Given the description of an element on the screen output the (x, y) to click on. 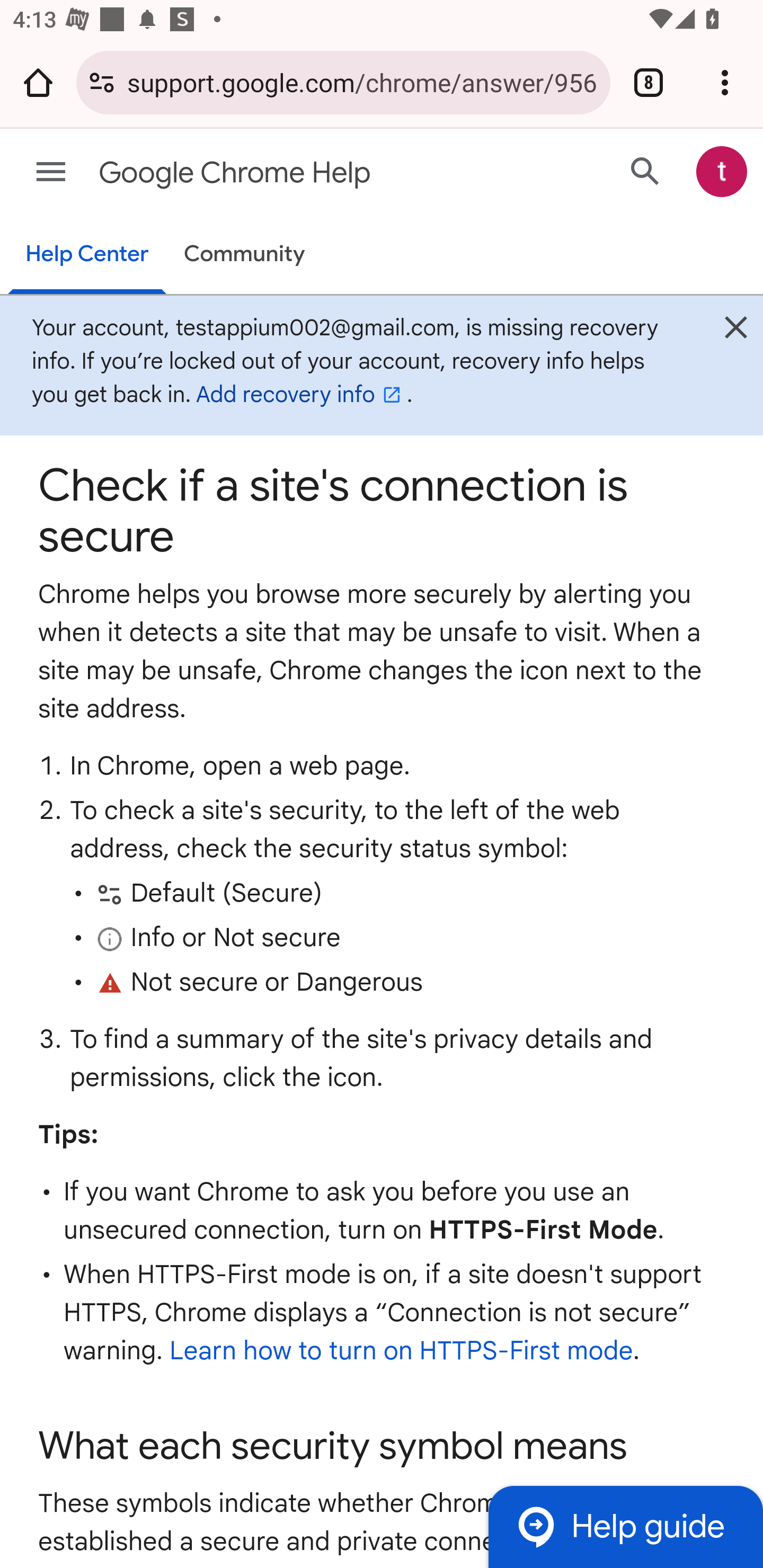
Open the home page (38, 82)
Connection is secure (101, 82)
Switch or close tabs (648, 82)
Customize and control Google Chrome (724, 82)
Main menu (50, 171)
Google Chrome Help (311, 173)
Search Help Center (645, 171)
Help Center (86, 255)
Community (243, 253)
Close (736, 331)
Add recovery info (300, 394)
Learn how to turn on HTTPS-First mode (401, 1350)
Help guide (625, 1527)
